Given the description of an element on the screen output the (x, y) to click on. 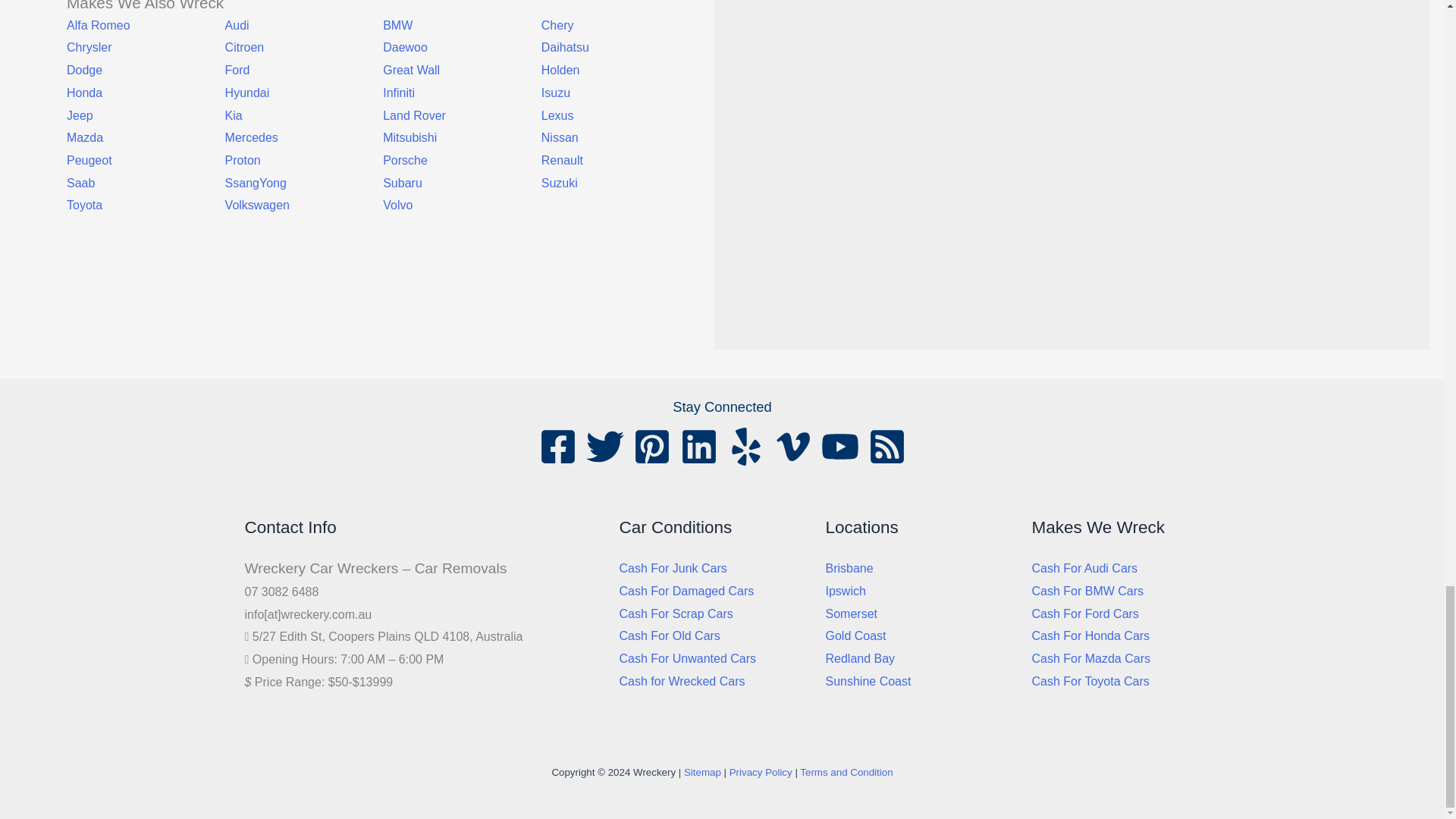
Call Us (128, 272)
